Given the description of an element on the screen output the (x, y) to click on. 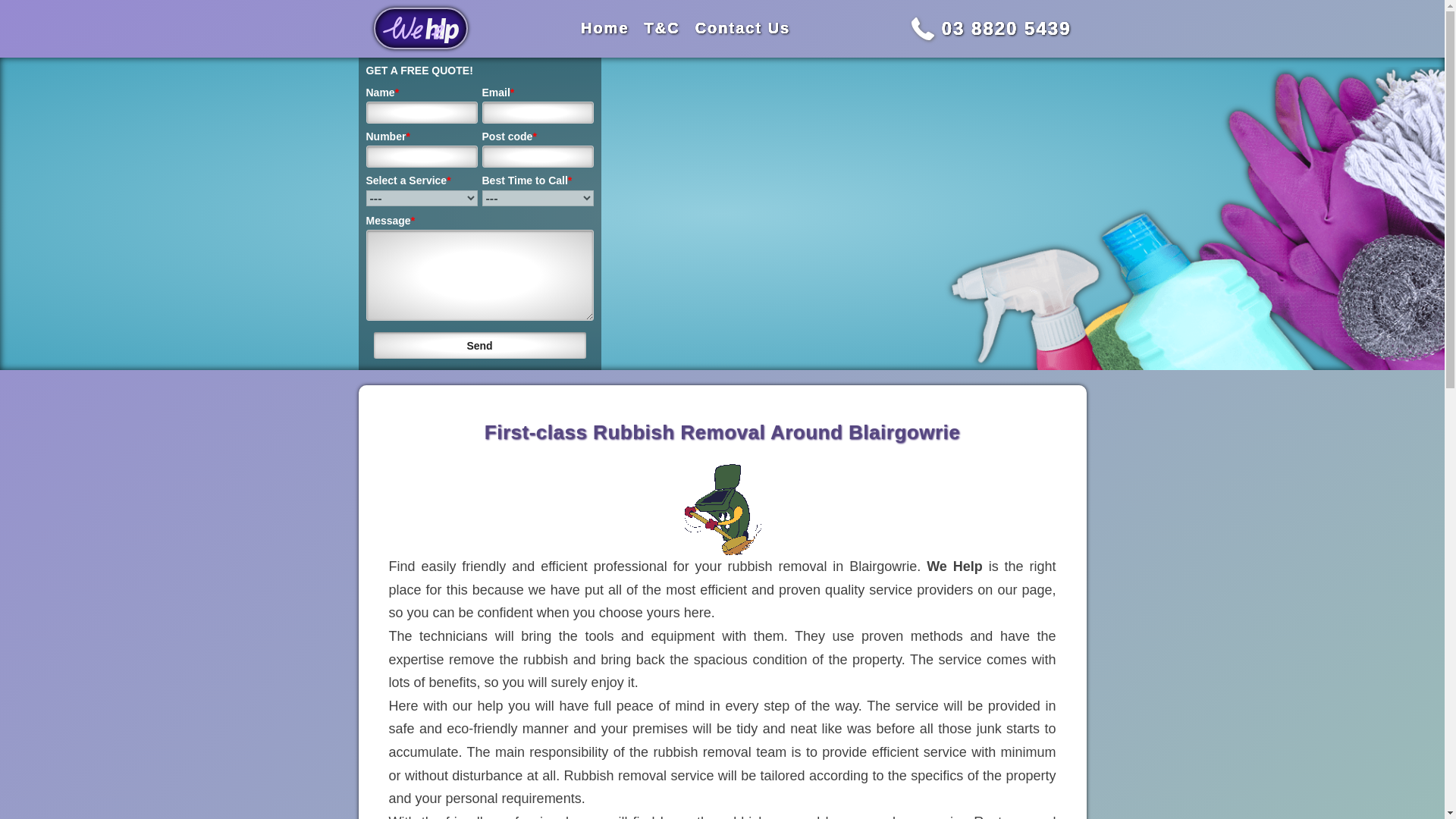
Home (604, 28)
Contact Us (742, 28)
03 8820 5439 (1006, 28)
Send (478, 345)
Send (478, 345)
